Given the description of an element on the screen output the (x, y) to click on. 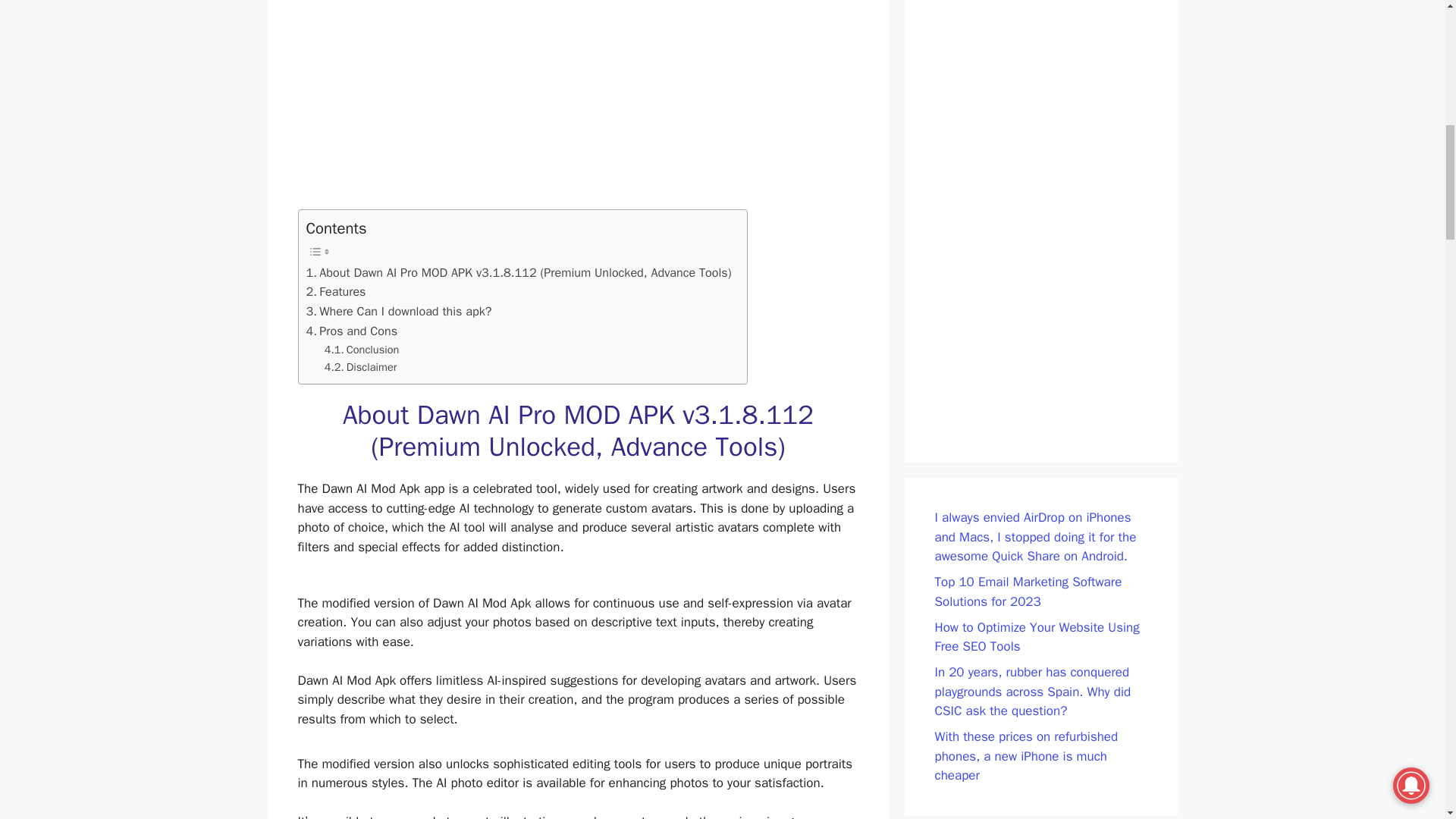
Disclaimer (360, 366)
Features (335, 291)
Advertisement (578, 104)
Where Can I download this apk? (398, 311)
Where Can I download this apk? (398, 311)
Disclaimer (360, 366)
Pros and Cons (351, 331)
Pros and Cons (351, 331)
Features (335, 291)
Conclusion (361, 349)
How to Optimize Your Website Using Free SEO Tools (1036, 636)
Conclusion (361, 349)
Top 10 Email Marketing Software Solutions for 2023 (1027, 591)
